Given the description of an element on the screen output the (x, y) to click on. 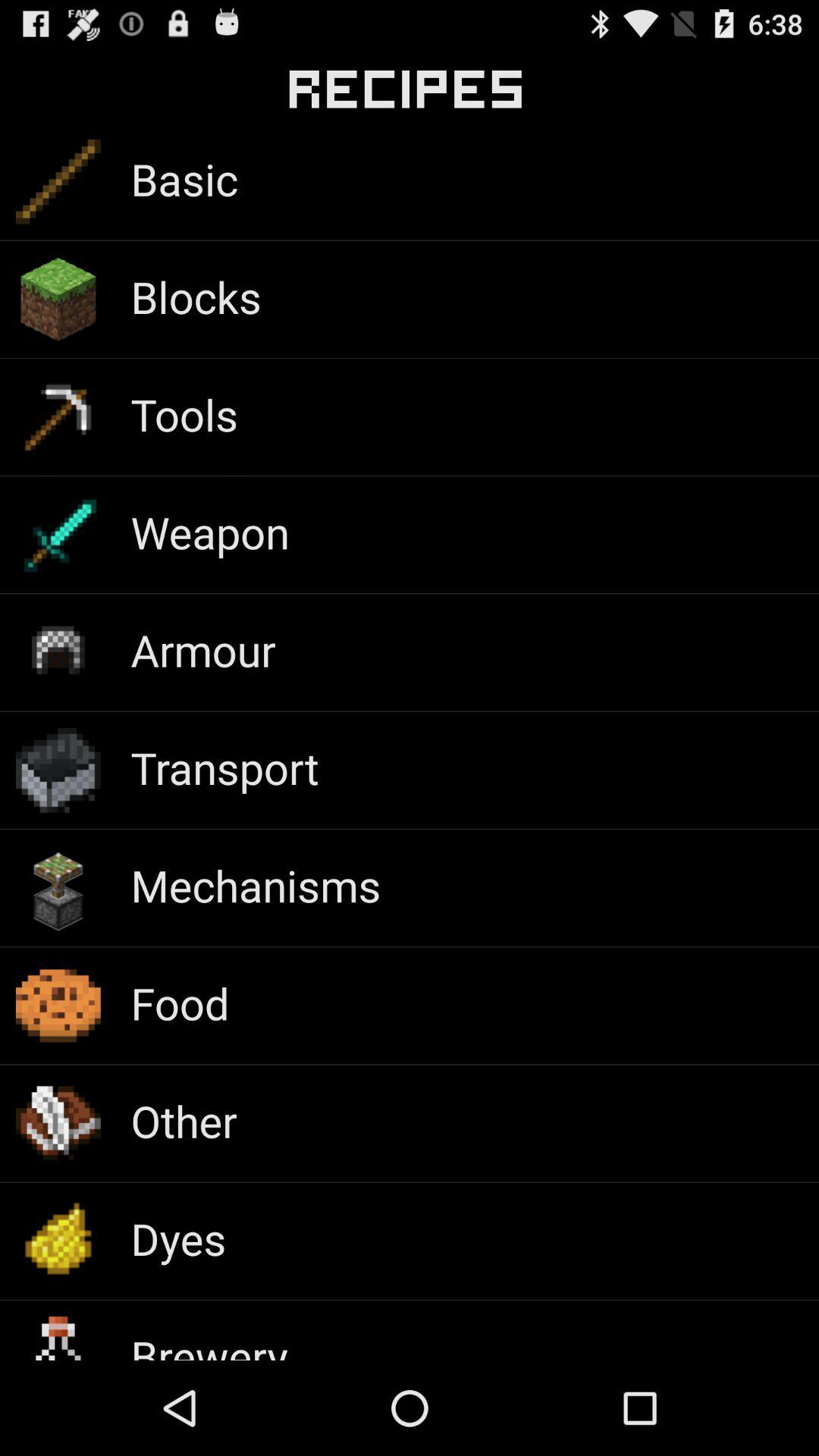
select tools item (184, 414)
